Given the description of an element on the screen output the (x, y) to click on. 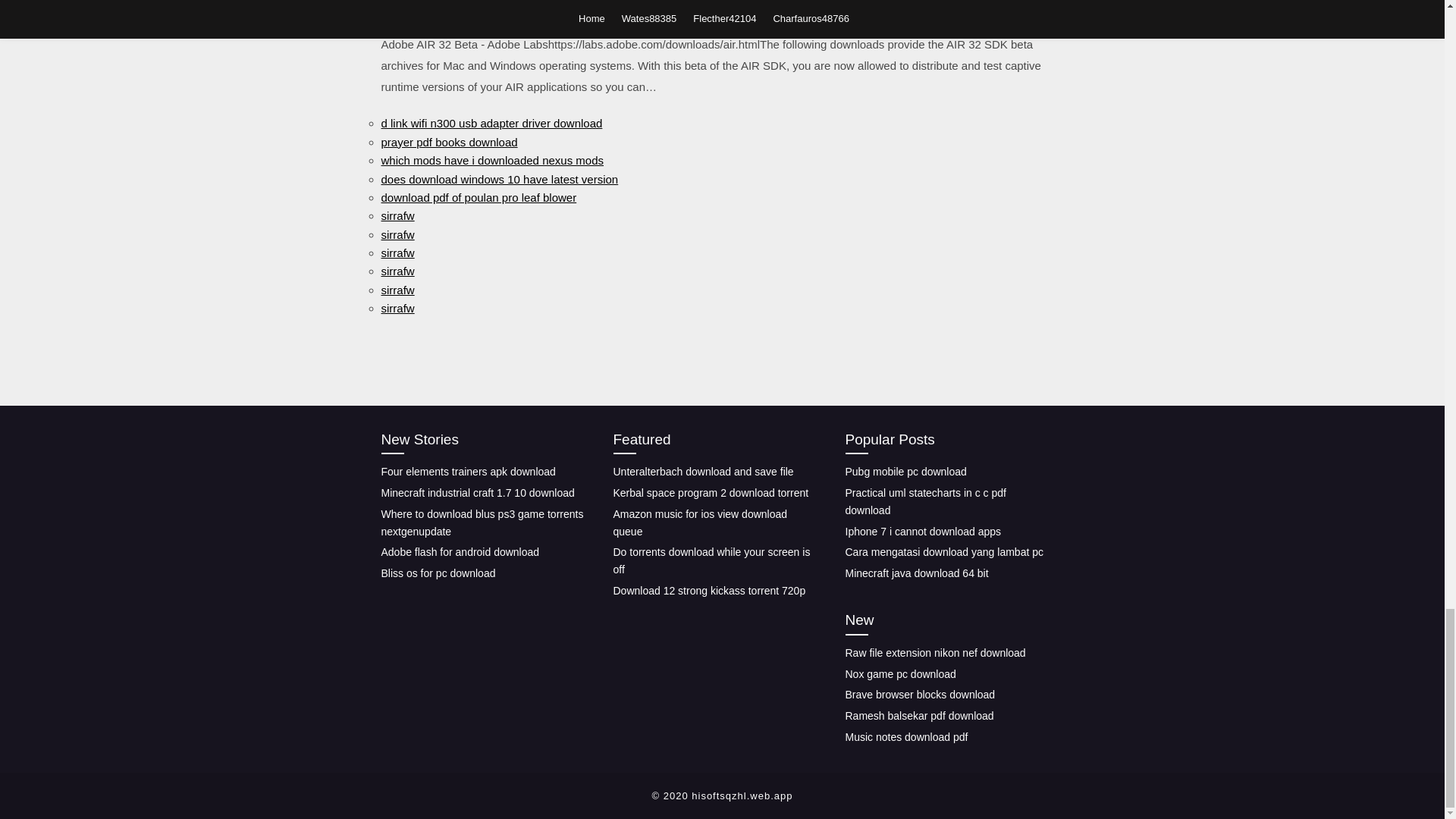
sirrafw (396, 234)
sirrafw (396, 289)
prayer pdf books download (448, 141)
Raw file extension nikon nef download (934, 653)
Four elements trainers apk download (467, 471)
Practical uml statecharts in c c pdf download (925, 501)
Bliss os for pc download (437, 573)
sirrafw (396, 252)
Adobe flash for android download (459, 551)
Music notes download pdf (906, 736)
